Given the description of an element on the screen output the (x, y) to click on. 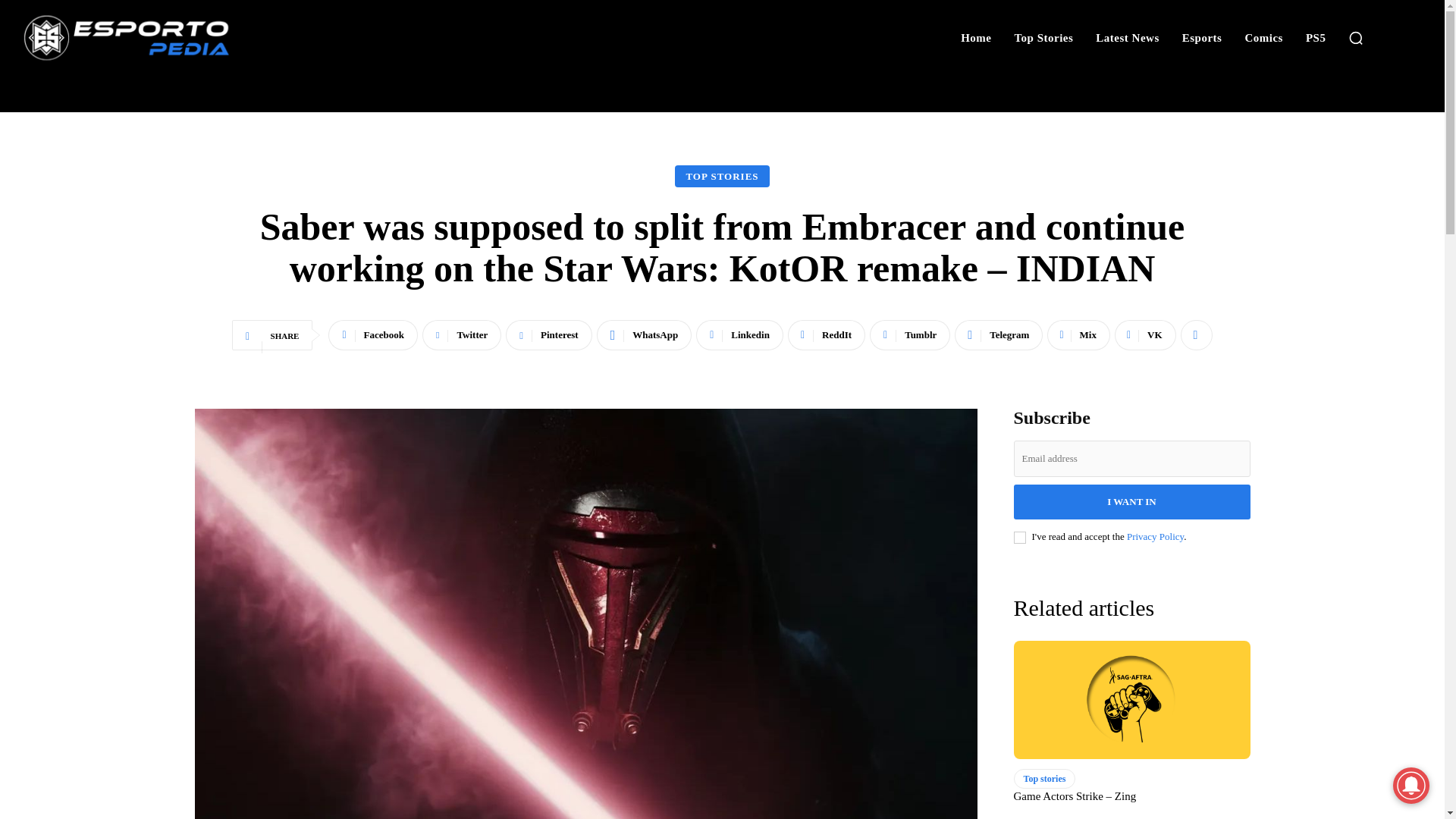
Linkedin (739, 335)
Top Stories (1043, 38)
Twitter (461, 335)
WhatsApp (644, 335)
ReddIt (825, 335)
Tumblr (909, 335)
Facebook (373, 335)
Mix (1077, 335)
Pinterest (548, 335)
Latest News (1126, 38)
Telegram (998, 335)
